Given the description of an element on the screen output the (x, y) to click on. 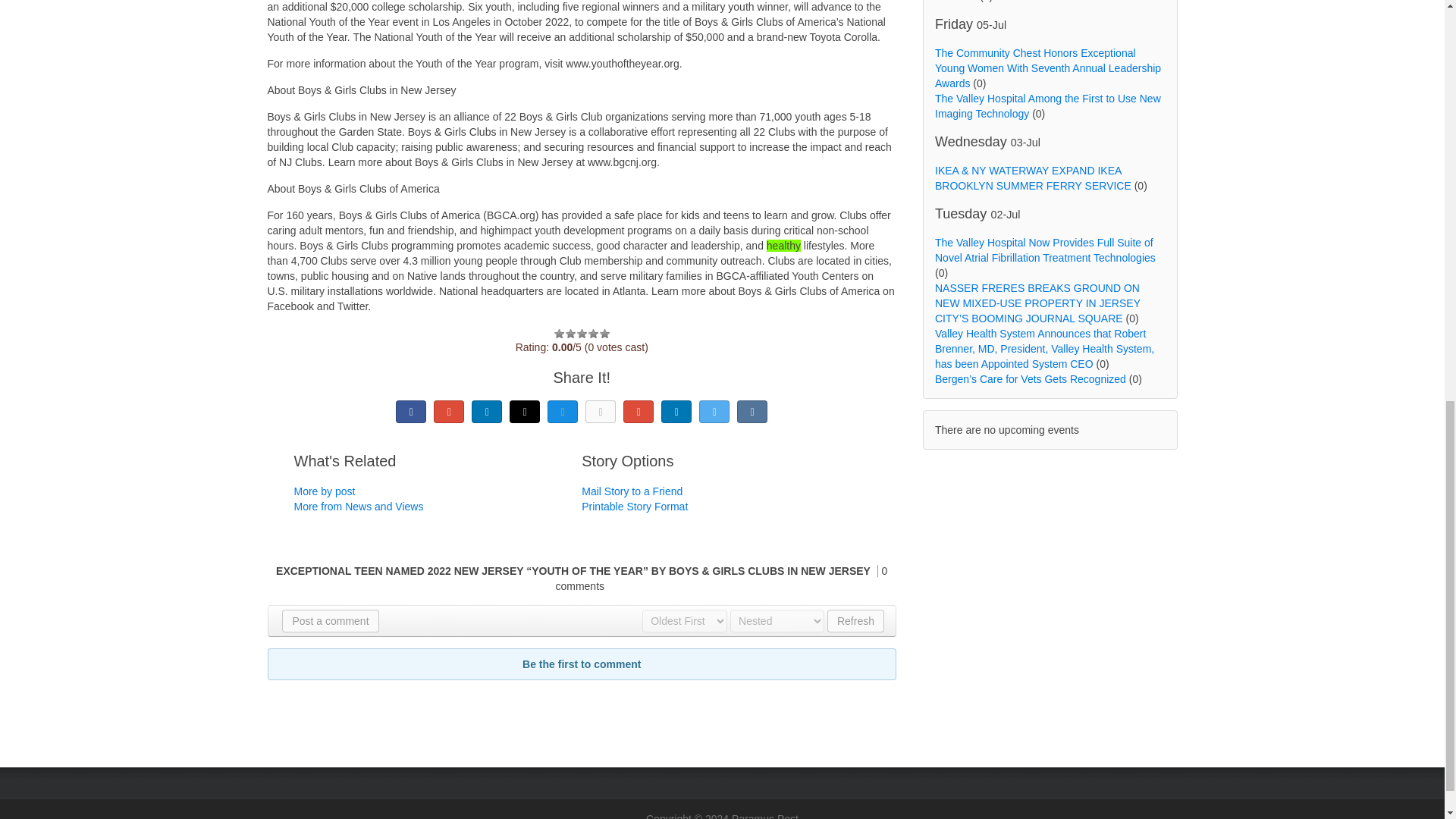
More by post (324, 491)
Facebook (411, 411)
Pinterest (638, 411)
vk (751, 411)
Mail.ru (562, 411)
Twitter (713, 411)
LinkedIn (486, 411)
Live Journal (524, 411)
reddit (676, 411)
More from News and Views (358, 506)
Odnoklassniki (600, 411)
